Given the description of an element on the screen output the (x, y) to click on. 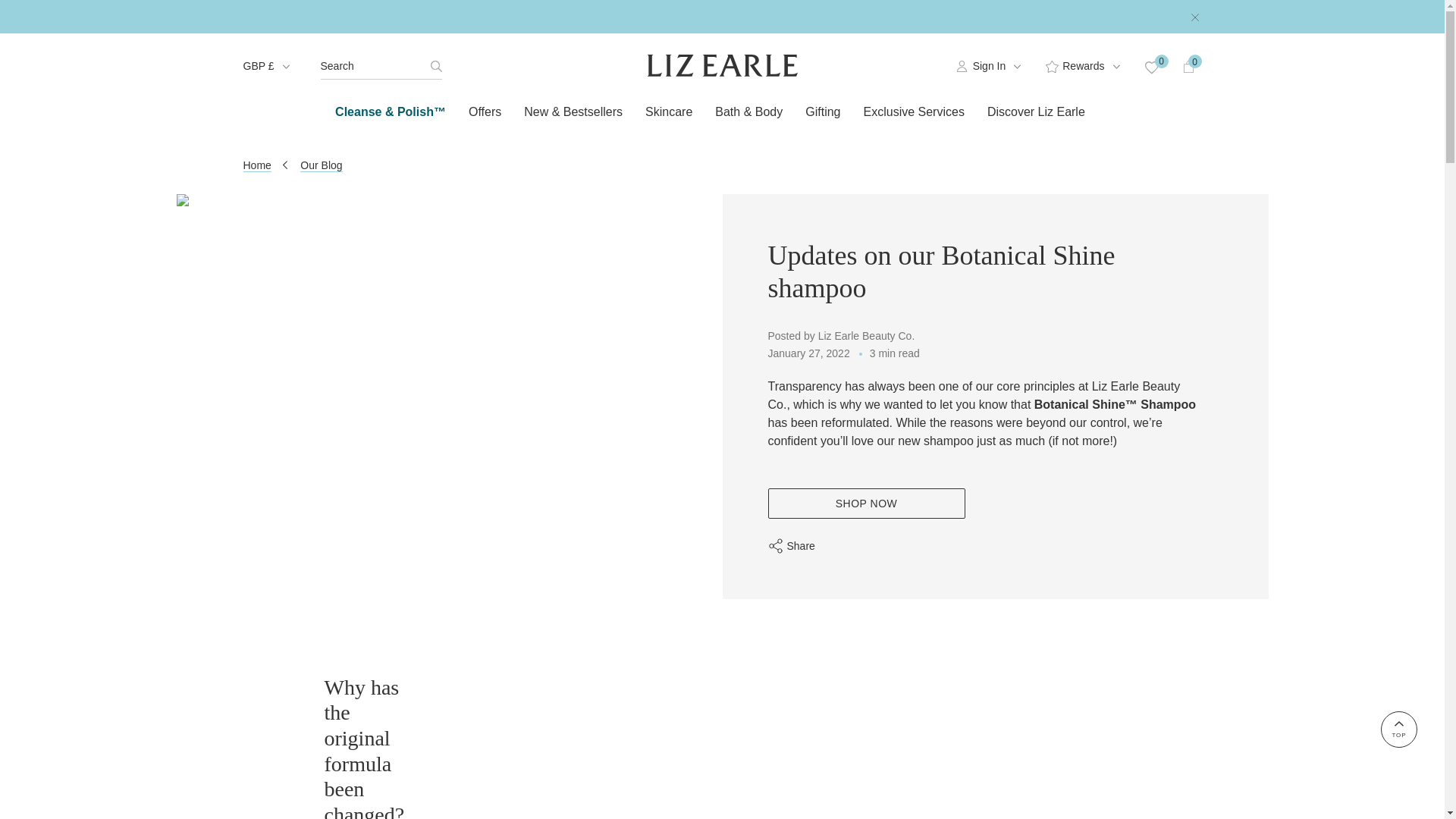
View your cart (1188, 66)
Search (380, 66)
Homepage (721, 65)
Rewards (1082, 66)
Offers (484, 115)
0 (1188, 66)
Sign In (988, 66)
0 (1151, 66)
Search (380, 66)
Lovelist (1151, 66)
